Given the description of an element on the screen output the (x, y) to click on. 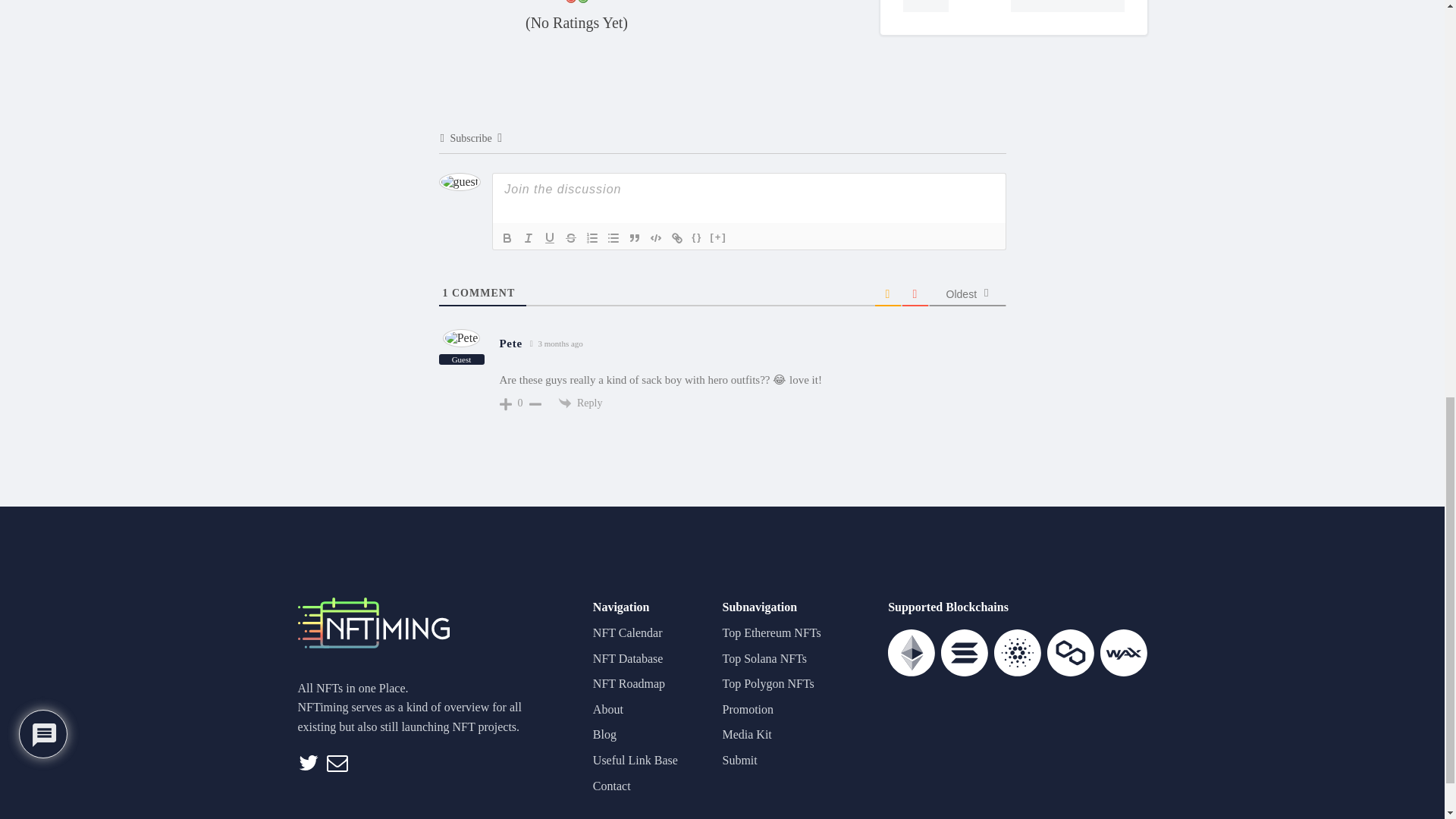
Vote Up (582, 2)
Source Code (696, 238)
Bold (507, 238)
Italic (528, 238)
Vote Down (570, 2)
Spoiler (718, 238)
Unordered List (613, 238)
Ordered List (591, 238)
Link (676, 238)
Underline (549, 238)
Strike (570, 238)
Code Block (655, 238)
Blockquote (634, 238)
